Given the description of an element on the screen output the (x, y) to click on. 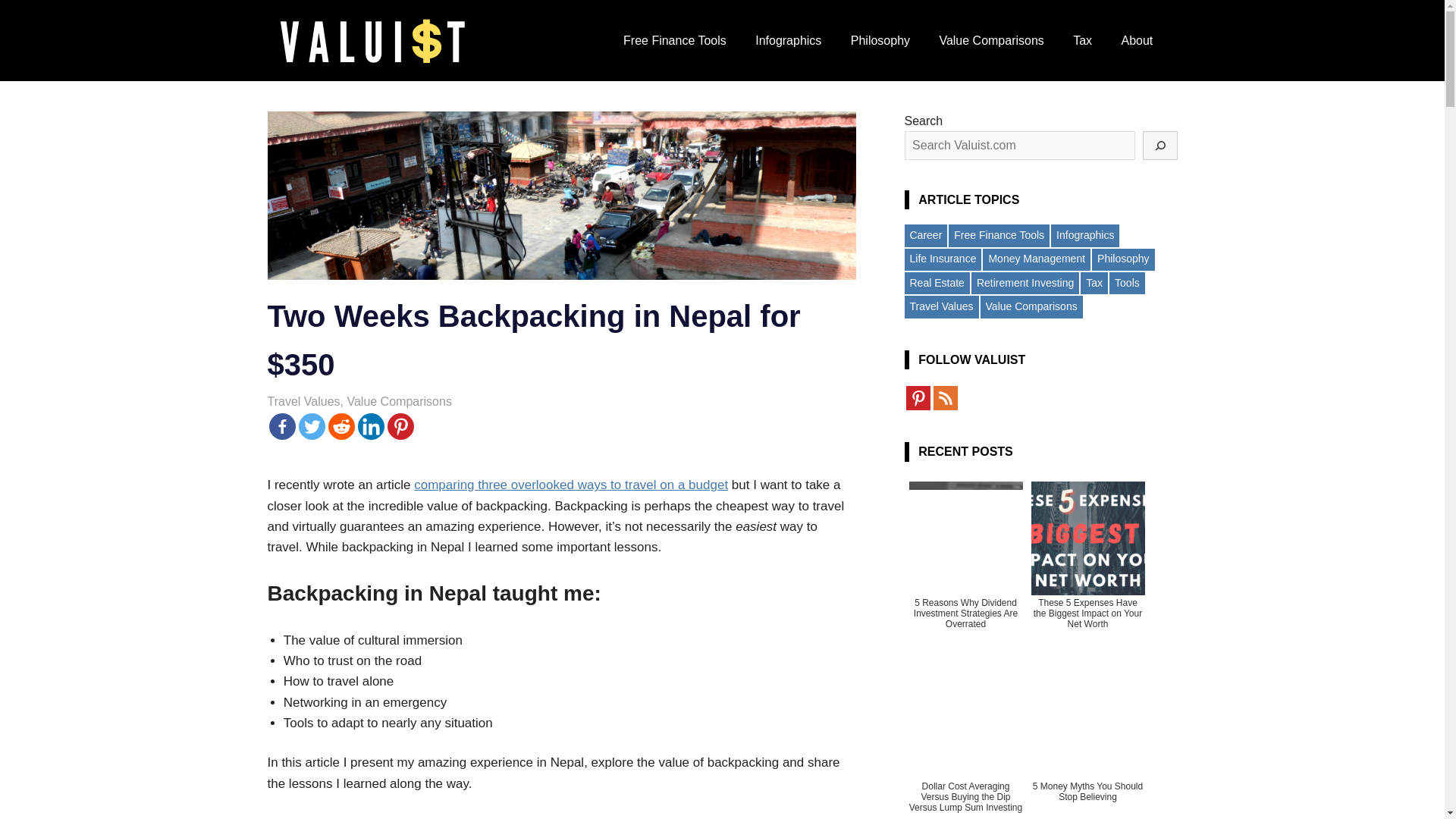
Tax (1082, 40)
Facebook (281, 426)
Twitter (311, 426)
Linkedin (371, 426)
RSS feed (944, 397)
About (1141, 40)
Philosophy (879, 40)
November 13, 2016 (320, 400)
Reddit (340, 426)
Infographics (788, 40)
